Given the description of an element on the screen output the (x, y) to click on. 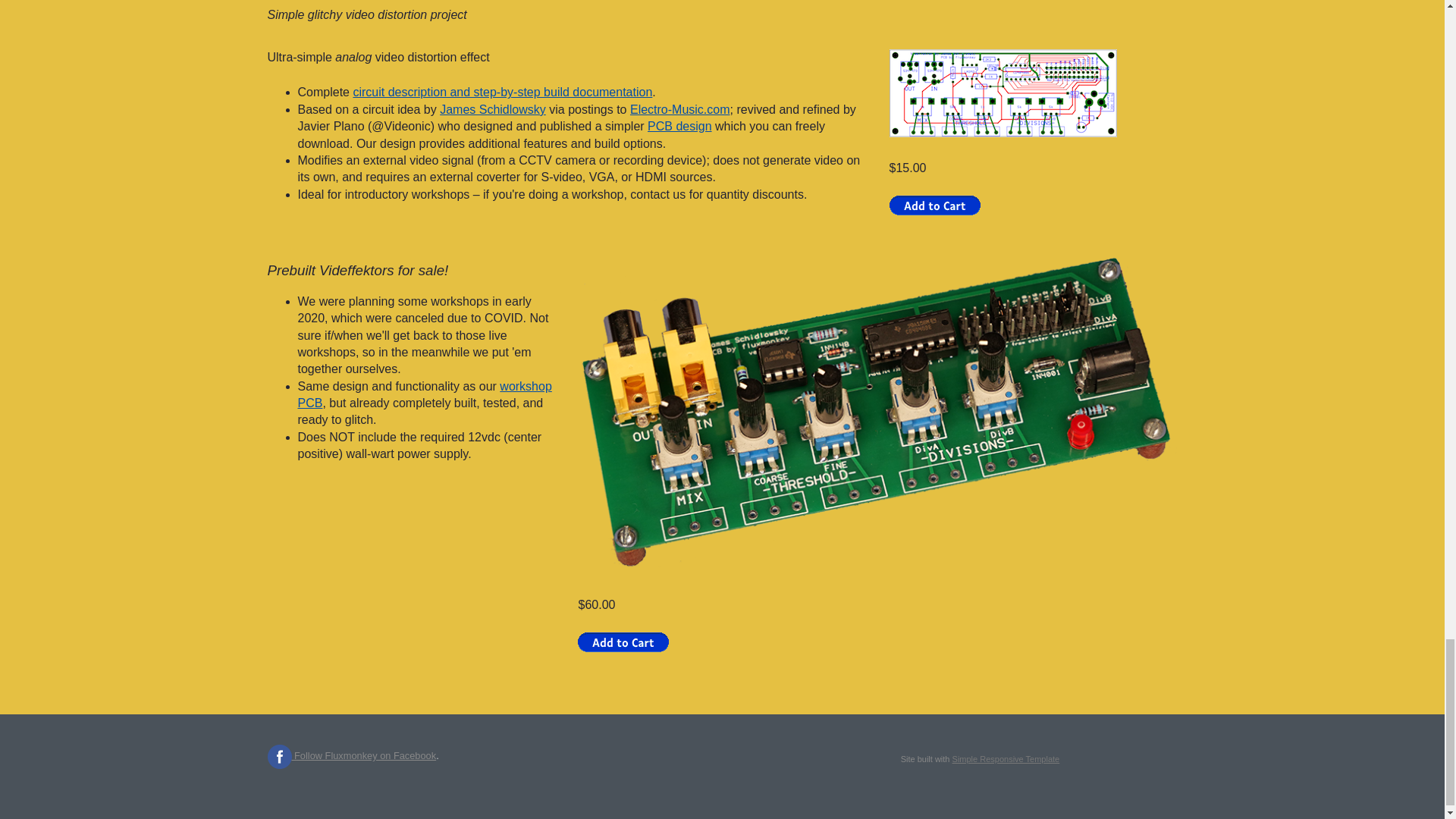
PayPal - The safer, easier way to pay online! (623, 641)
